Given the description of an element on the screen output the (x, y) to click on. 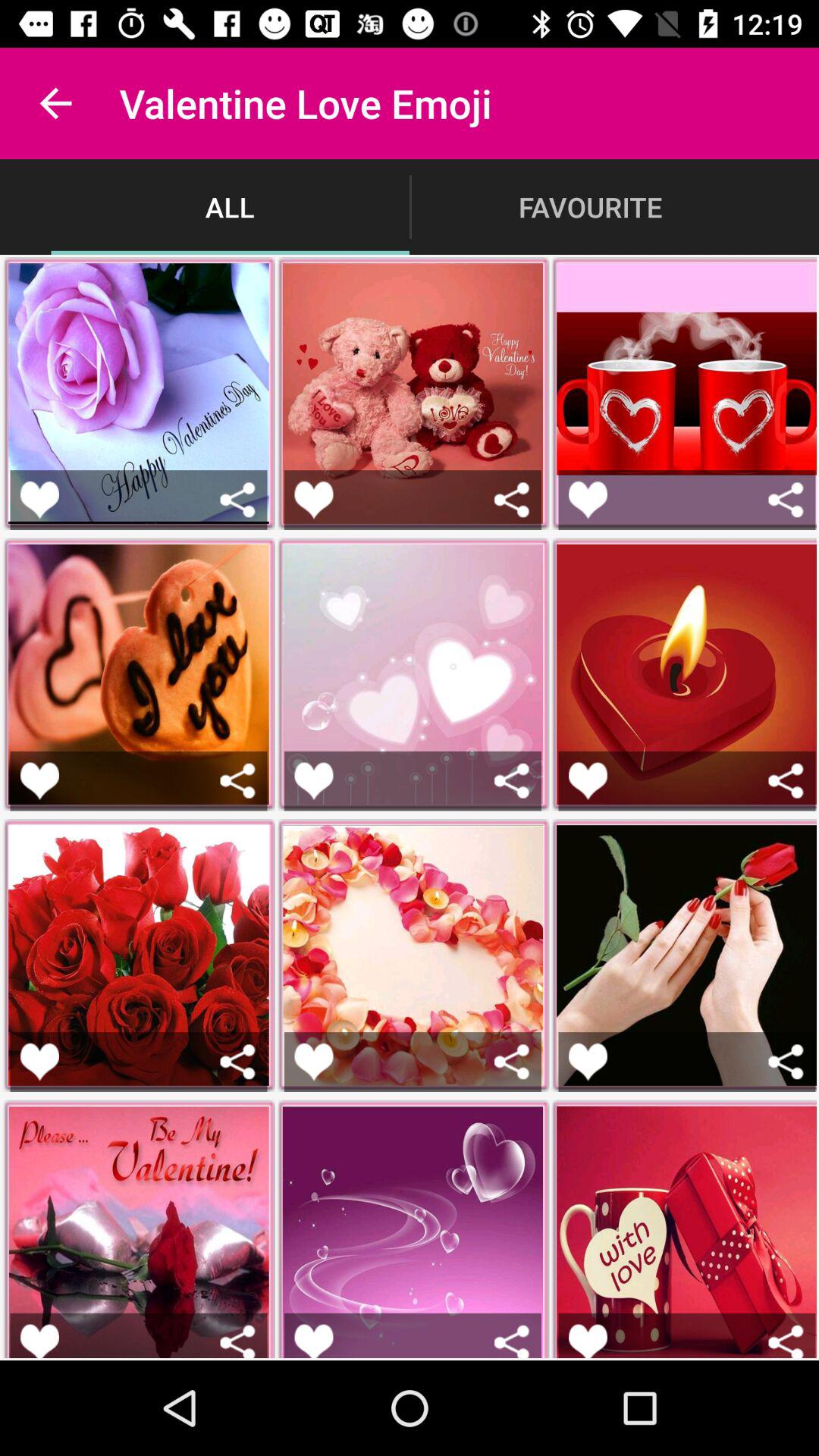
like picture (39, 1340)
